Given the description of an element on the screen output the (x, y) to click on. 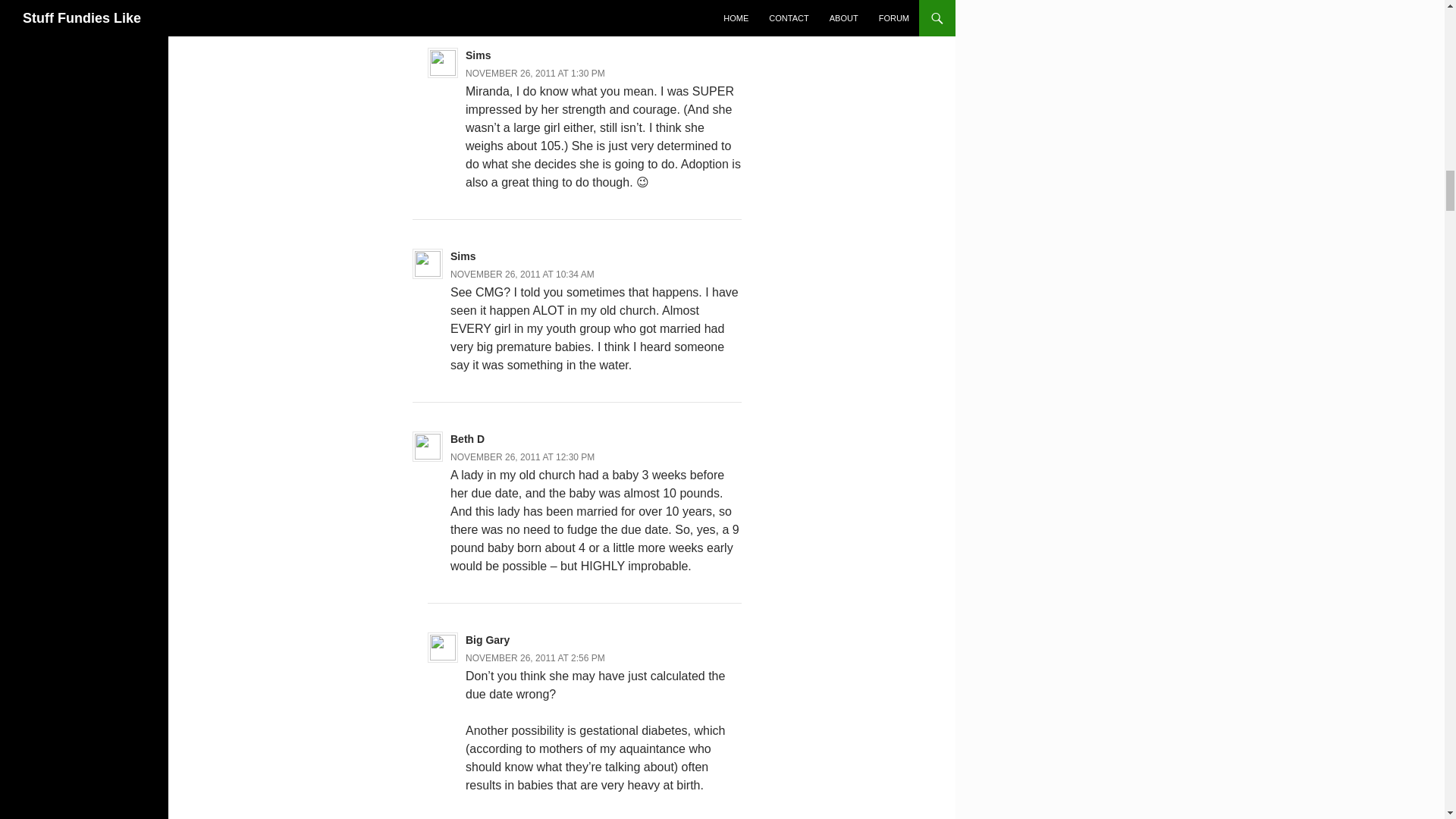
NOVEMBER 26, 2011 AT 1:30 PM (535, 72)
NOVEMBER 26, 2011 AT 2:56 PM (535, 657)
NOVEMBER 26, 2011 AT 12:30 PM (521, 457)
NOVEMBER 26, 2011 AT 10:34 AM (521, 274)
